Given the description of an element on the screen output the (x, y) to click on. 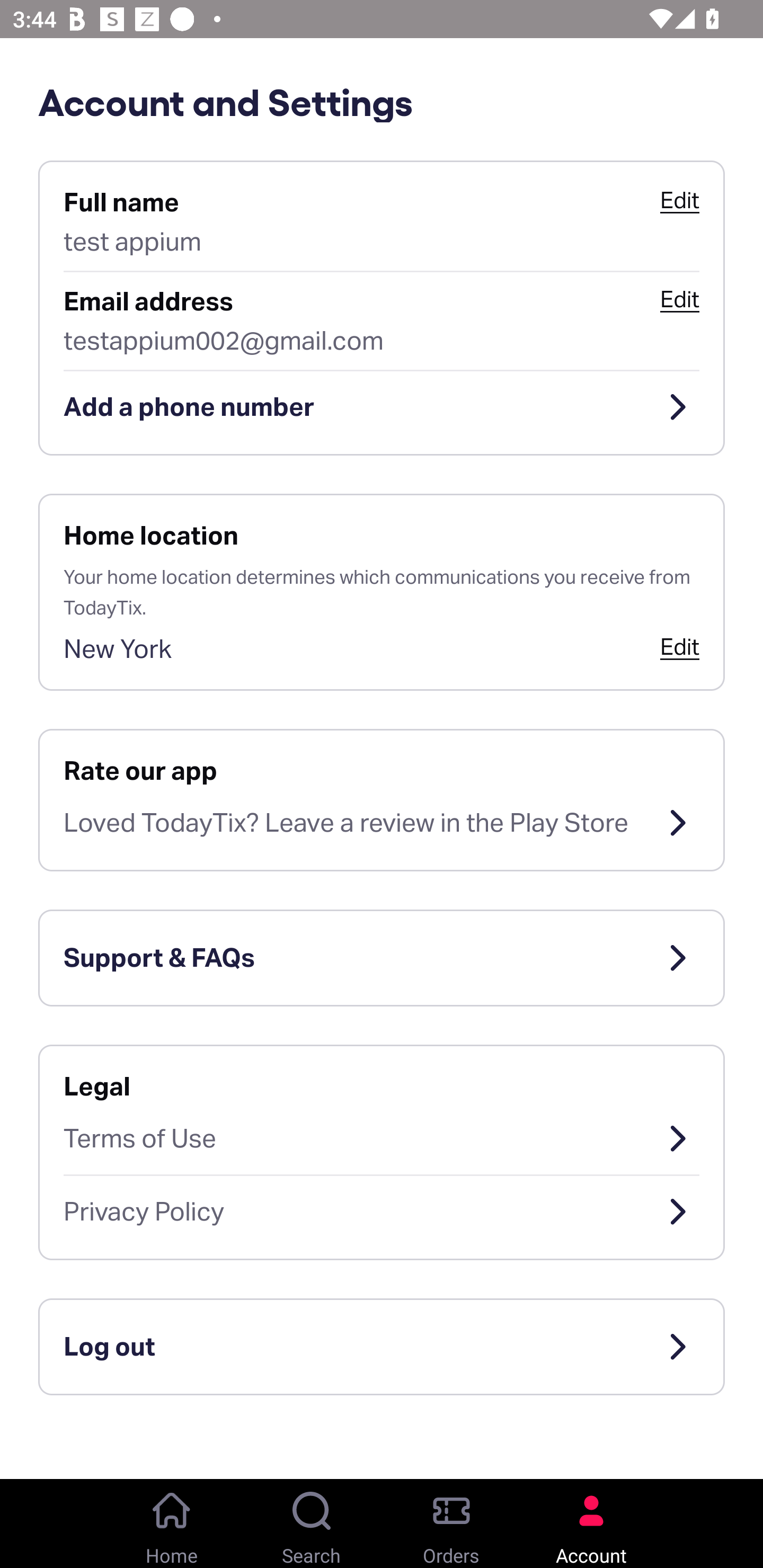
Edit (679, 200)
Edit (679, 299)
Add a phone number (381, 406)
Edit (679, 646)
Loved TodayTix? Leave a review in the Play Store (381, 822)
Support & FAQs (381, 957)
Terms of Use (381, 1137)
Privacy Policy (381, 1211)
Log out (381, 1346)
Home (171, 1523)
Search (311, 1523)
Orders (451, 1523)
